Given the description of an element on the screen output the (x, y) to click on. 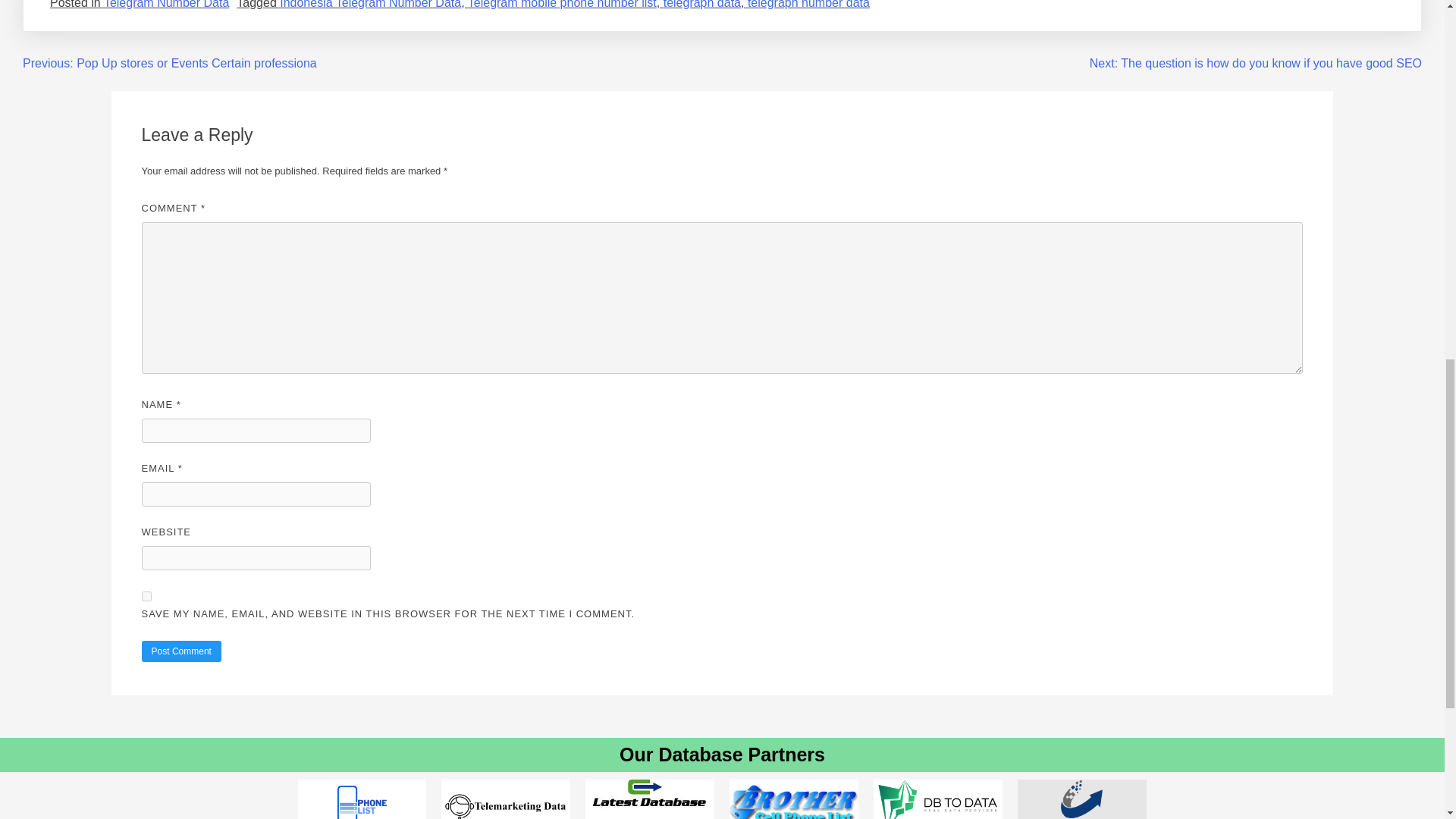
Indonesia Telegram Number Data (370, 4)
Telegram mobile phone number list (561, 4)
Previous: Pop Up stores or Events Certain professiona (170, 62)
Telegram Number Data (165, 4)
telegraph number data (808, 4)
yes (146, 596)
telegraph data (702, 4)
Next: The question is how do you know if you have good SEO (1255, 62)
Post Comment (181, 650)
Post Comment (181, 650)
